Given the description of an element on the screen output the (x, y) to click on. 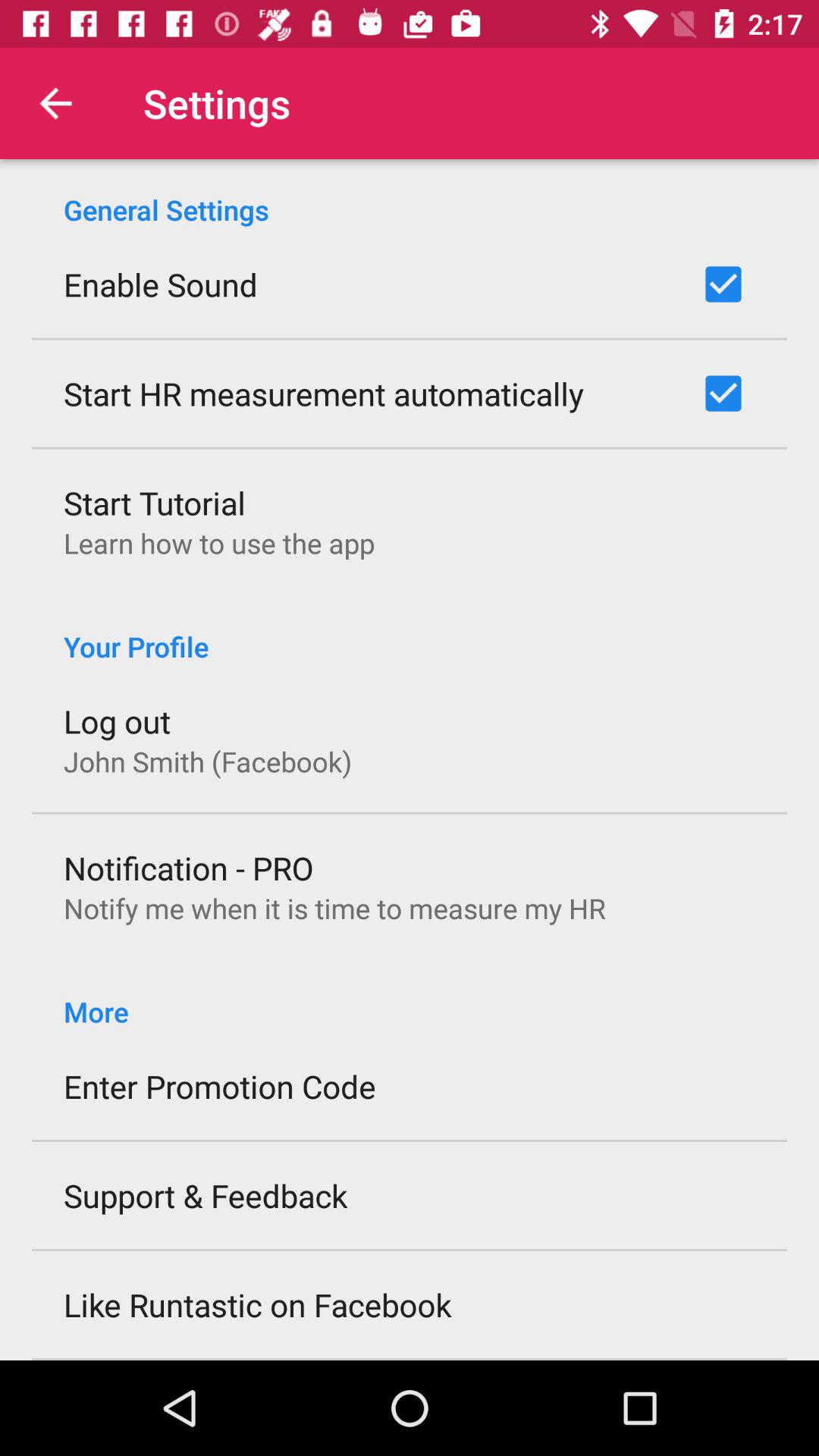
open icon above the learn how to item (154, 502)
